Given the description of an element on the screen output the (x, y) to click on. 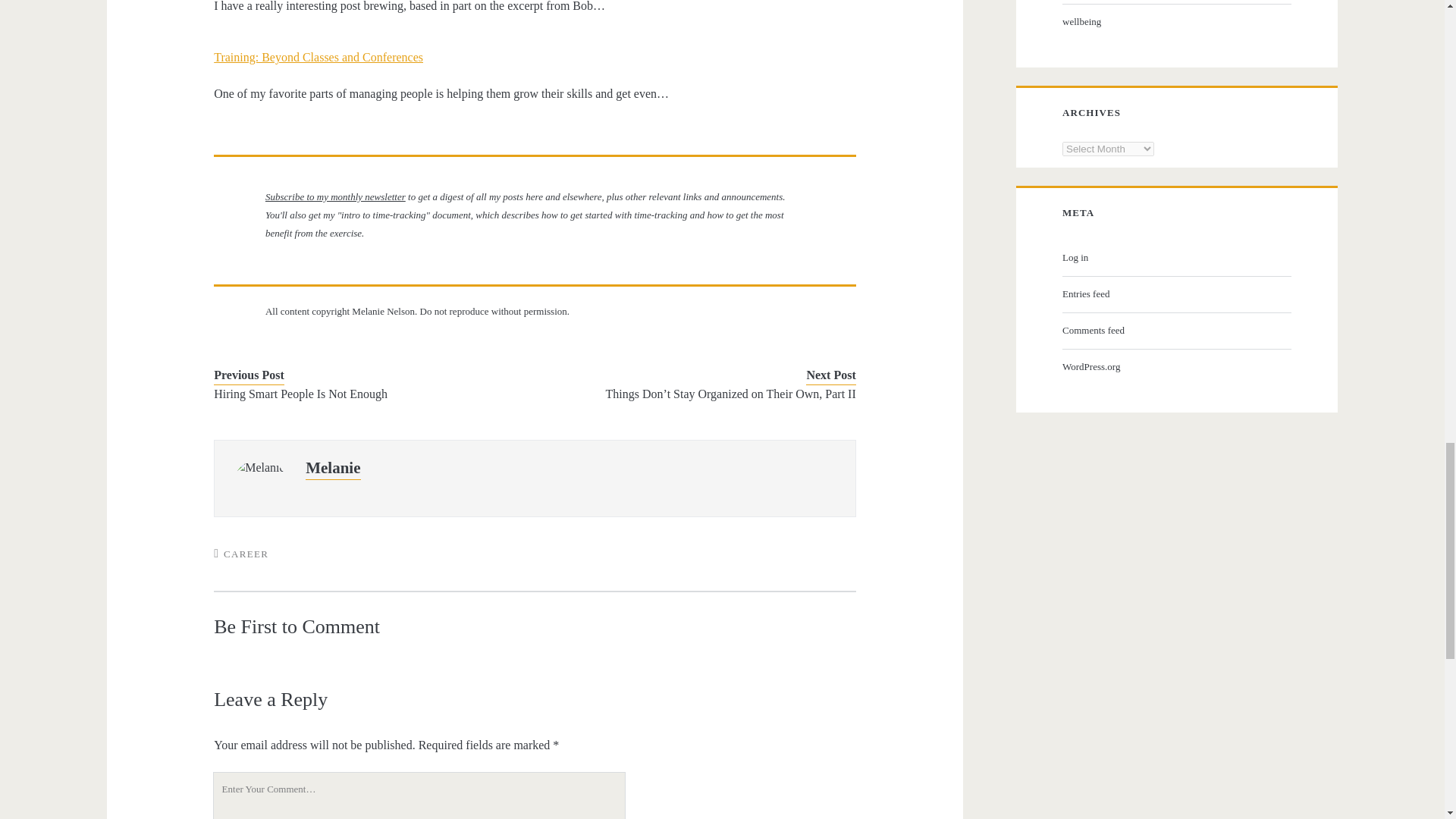
Subscribe to my monthly newsletter (335, 196)
View all posts in career (245, 553)
Training: Beyond Classes and Conferences (318, 56)
Hiring Smart People Is Not Enough (361, 393)
CAREER (245, 553)
